Given the description of an element on the screen output the (x, y) to click on. 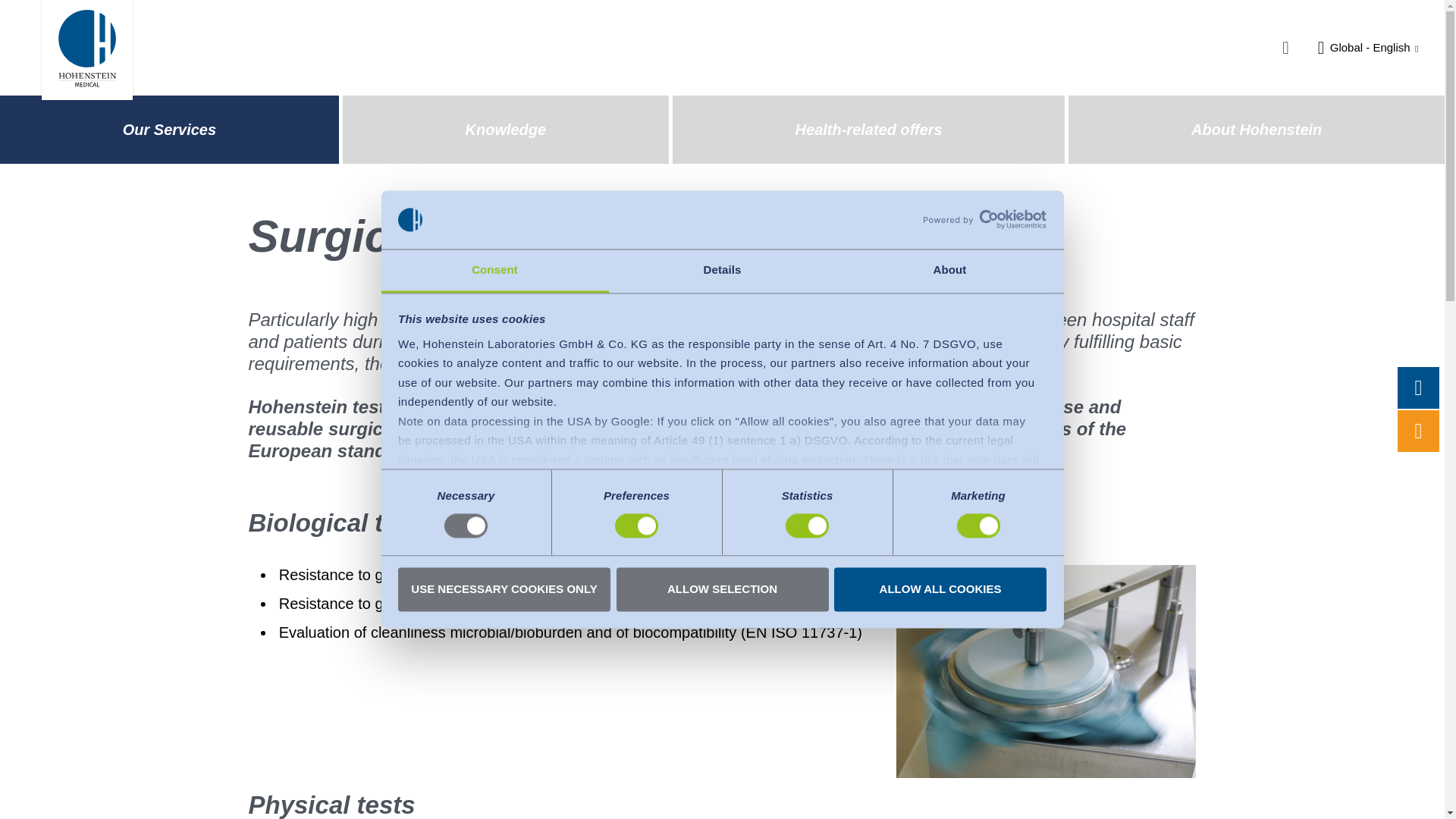
Details (721, 270)
About (948, 270)
ALLOW SELECTION (721, 588)
ALLOW ALL COOKIES (940, 588)
Our Services (169, 129)
Knowledge (505, 129)
Health-related offers (868, 129)
USE NECESSARY COOKIES ONLY (503, 588)
Consent (494, 270)
